Given the description of an element on the screen output the (x, y) to click on. 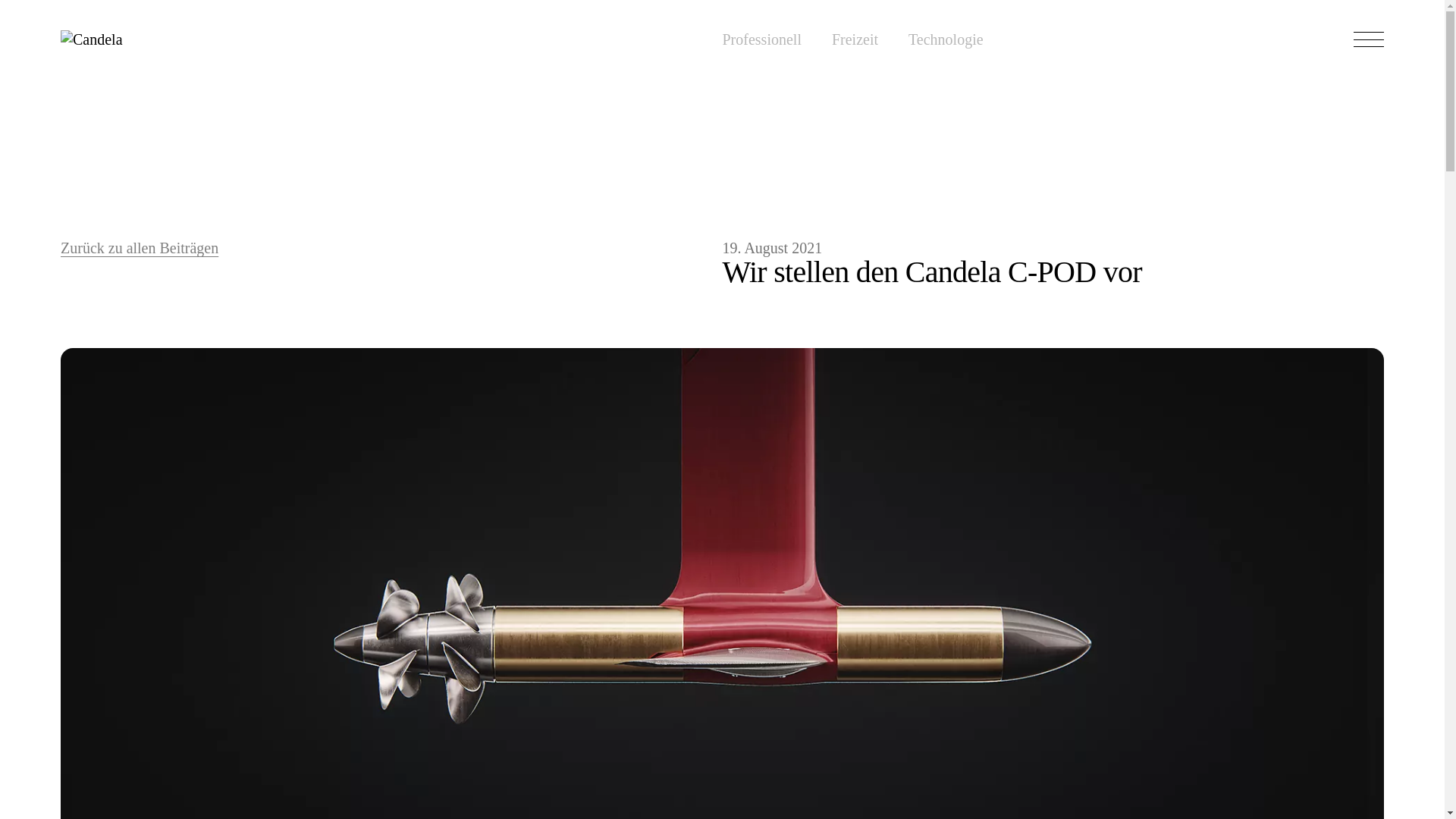
Freizeit (854, 39)
Technologie (946, 39)
Professionell (761, 39)
